Given the description of an element on the screen output the (x, y) to click on. 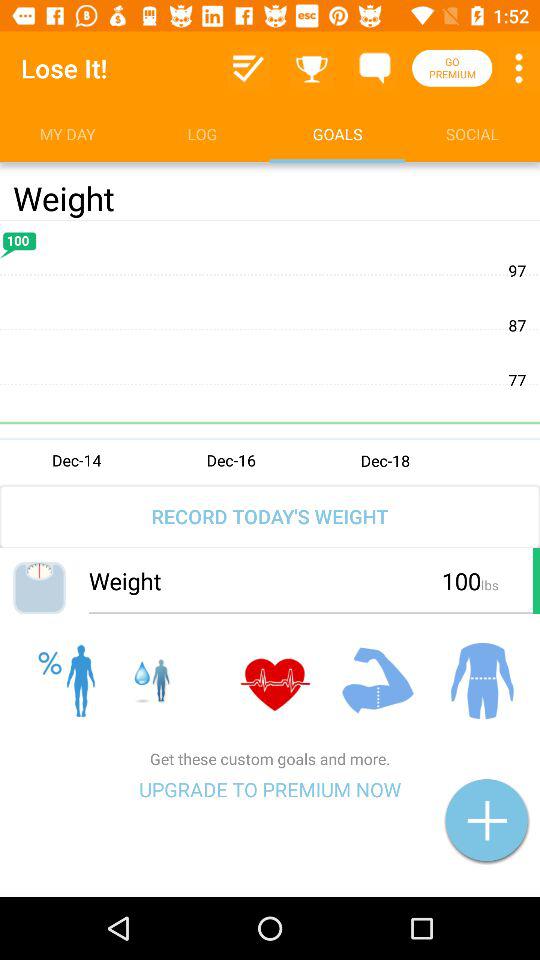
launch icon above the goals item (374, 67)
